Given the description of an element on the screen output the (x, y) to click on. 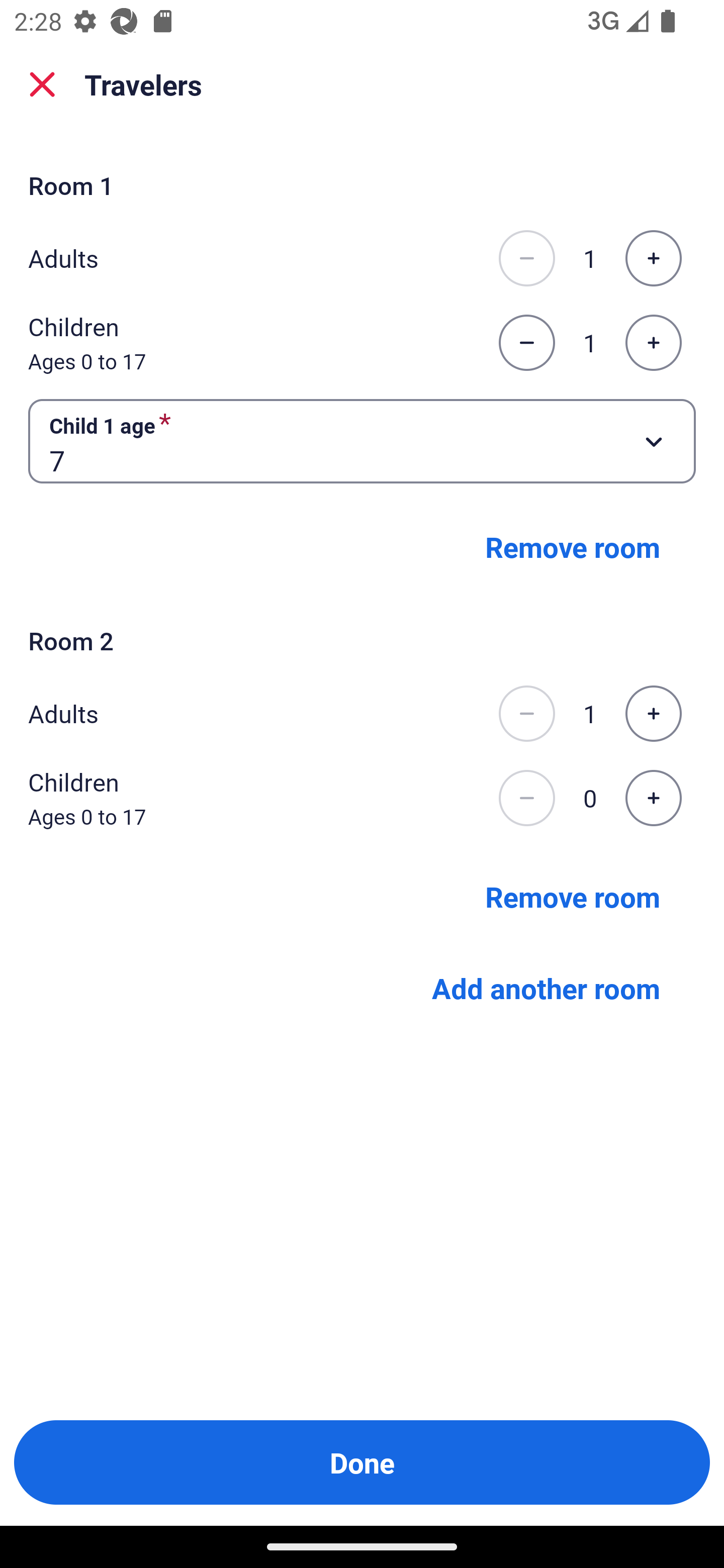
close (42, 84)
Decrease the number of adults (526, 258)
Increase the number of adults (653, 258)
Decrease the number of children (526, 343)
Increase the number of children (653, 343)
Child 1 age required Button 7 (361, 440)
Remove room (572, 546)
Decrease the number of adults (526, 713)
Increase the number of adults (653, 713)
Decrease the number of children (526, 797)
Increase the number of children (653, 797)
Remove room (572, 896)
Add another room (545, 987)
Done (361, 1462)
